Given the description of an element on the screen output the (x, y) to click on. 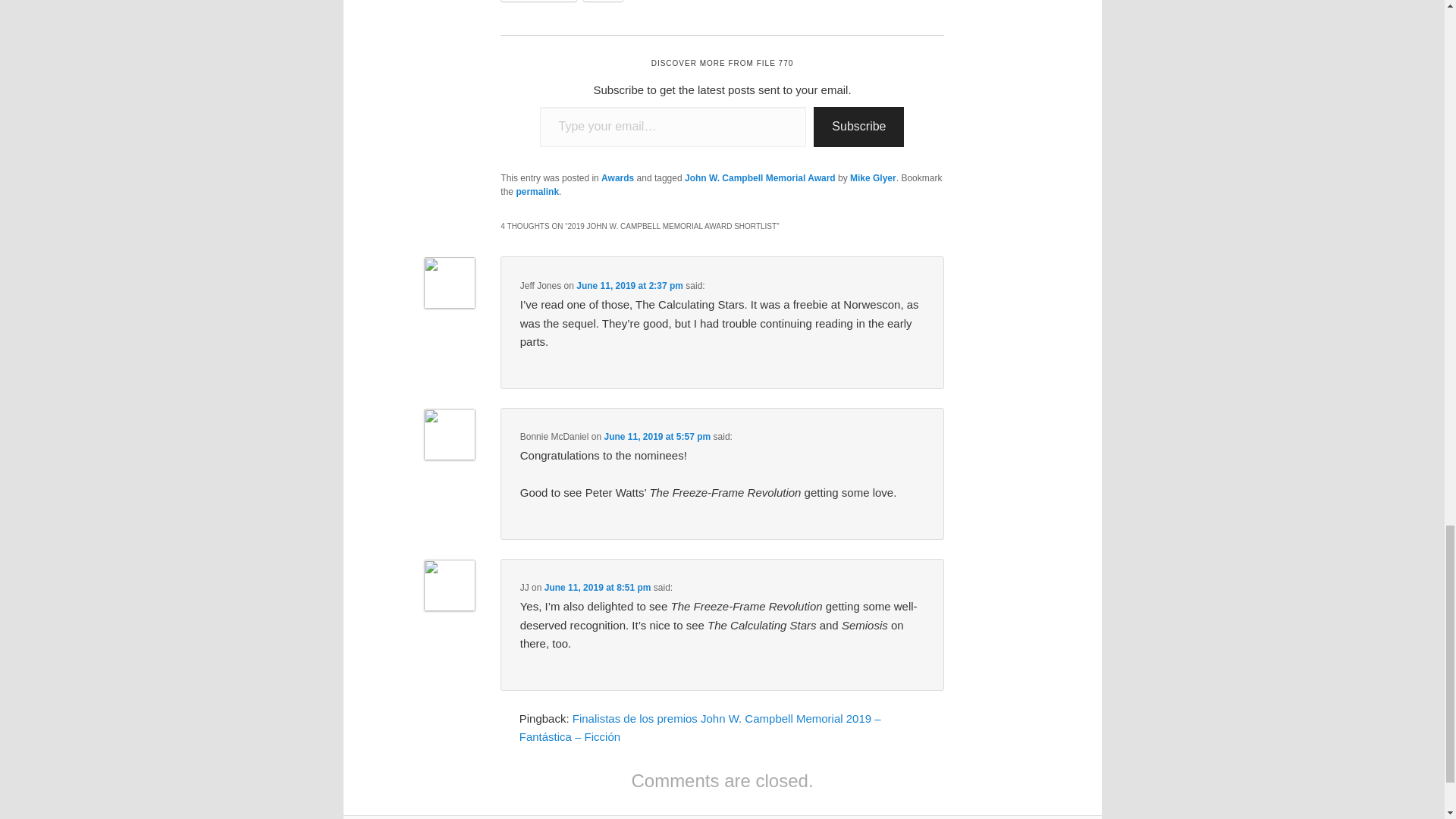
Mike Glyer (873, 177)
John W. Campbell Memorial Award (759, 177)
permalink (537, 191)
June 11, 2019 at 5:57 pm (657, 436)
Click to share on Facebook (538, 0)
June 11, 2019 at 2:37 pm (629, 285)
June 11, 2019 at 8:51 pm (597, 587)
Please fill in this field. (673, 127)
X (603, 0)
Subscribe (858, 127)
Awards (617, 177)
Permalink to 2019 John W. Campbell Memorial Award Shortlist (537, 191)
Facebook (538, 0)
Click to share on X (603, 0)
